Given the description of an element on the screen output the (x, y) to click on. 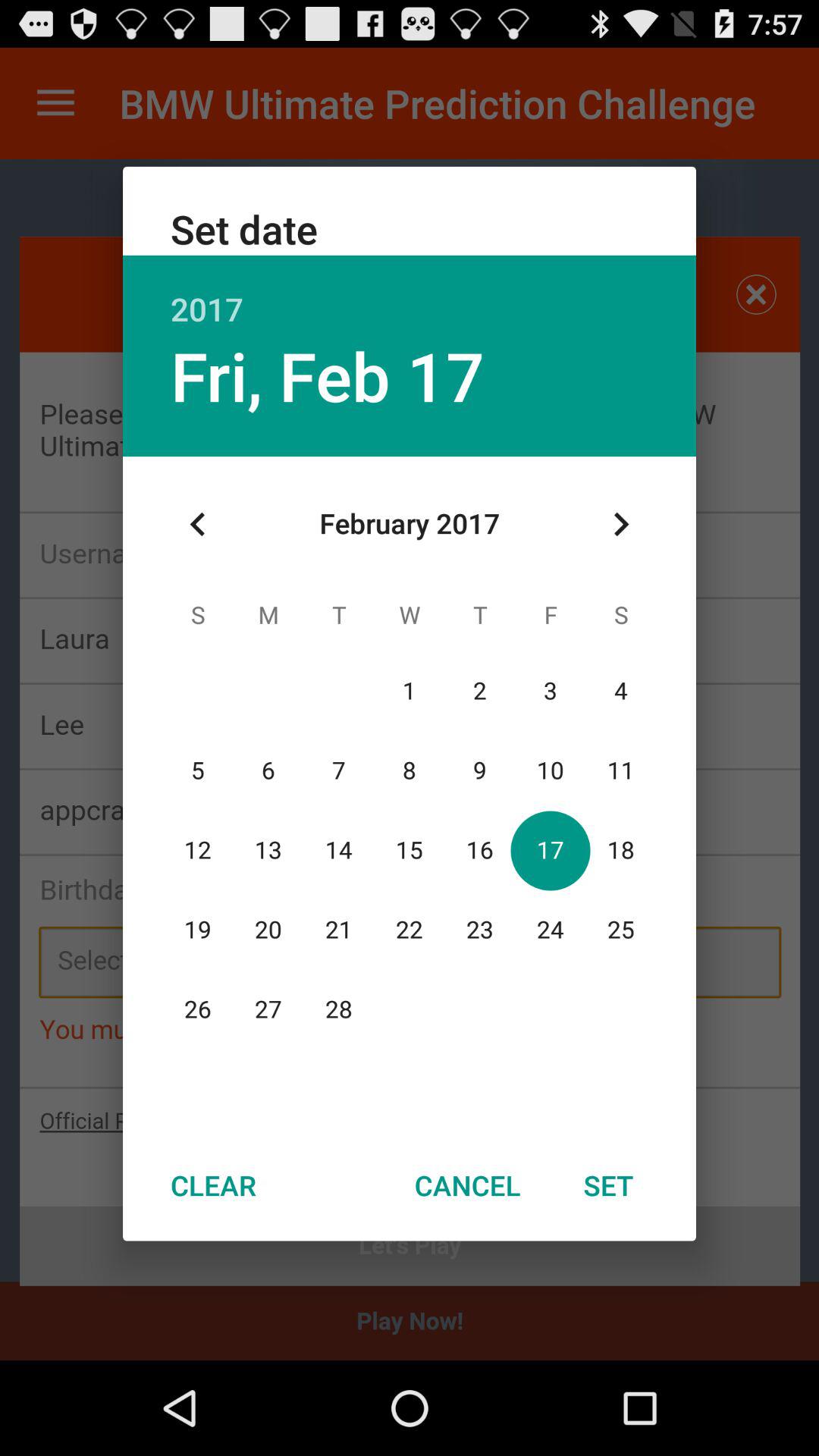
jump to the clear icon (213, 1185)
